Given the description of an element on the screen output the (x, y) to click on. 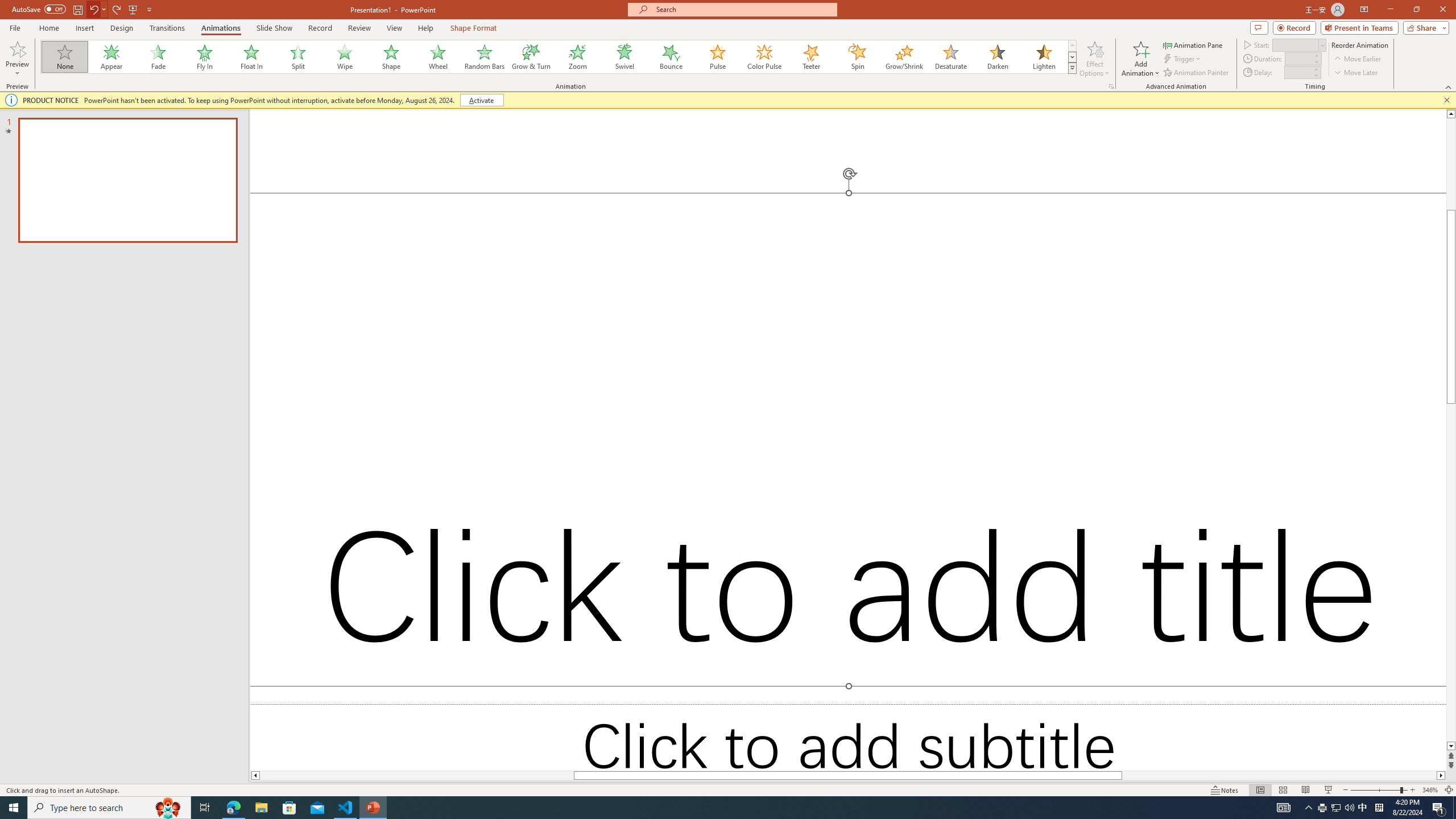
Split (298, 56)
Add Animation (1141, 58)
Spin (857, 56)
Fly In (205, 56)
Animation Delay (1297, 72)
Appear (111, 56)
Move Earlier (1357, 58)
Close this message (1446, 99)
Shape (391, 56)
